Given the description of an element on the screen output the (x, y) to click on. 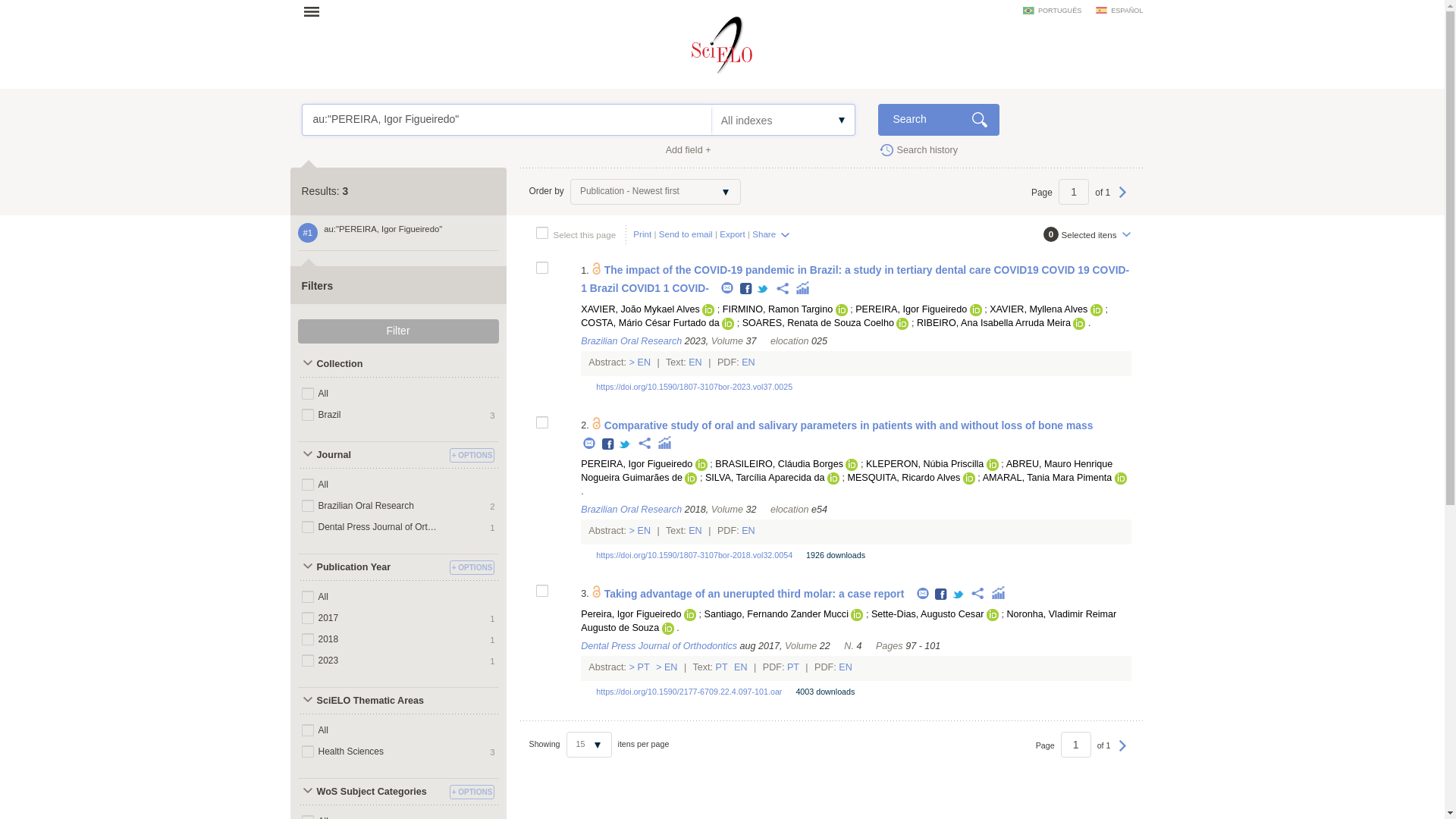
Search (937, 119)
SciELO Thematic Areas (371, 700)
Journal (371, 455)
Search history (917, 148)
Abrir menu (316, 11)
Publication Year (371, 567)
Search (937, 119)
WoS Subject Categories (371, 791)
1 (1073, 191)
